Given the description of an element on the screen output the (x, y) to click on. 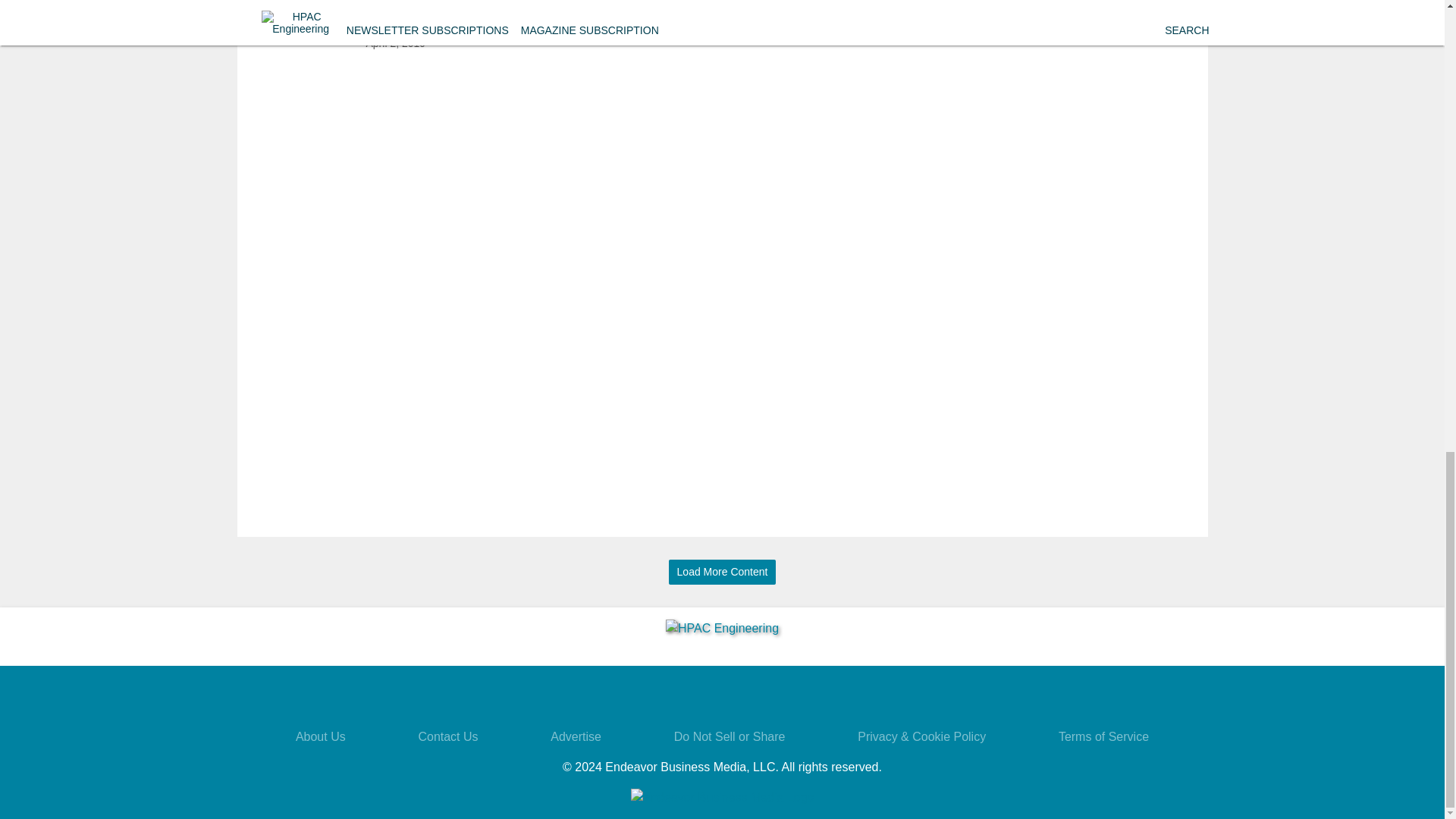
Screen Shot 2019-04-02 at 3.38.14 PM.png (307, 27)
Do Not Sell or Share (730, 736)
About Us (320, 736)
Advertise (575, 736)
Load More Content (722, 571)
Read the April 2019 - Digital Edition (424, 12)
Contact Us (447, 736)
